Given the description of an element on the screen output the (x, y) to click on. 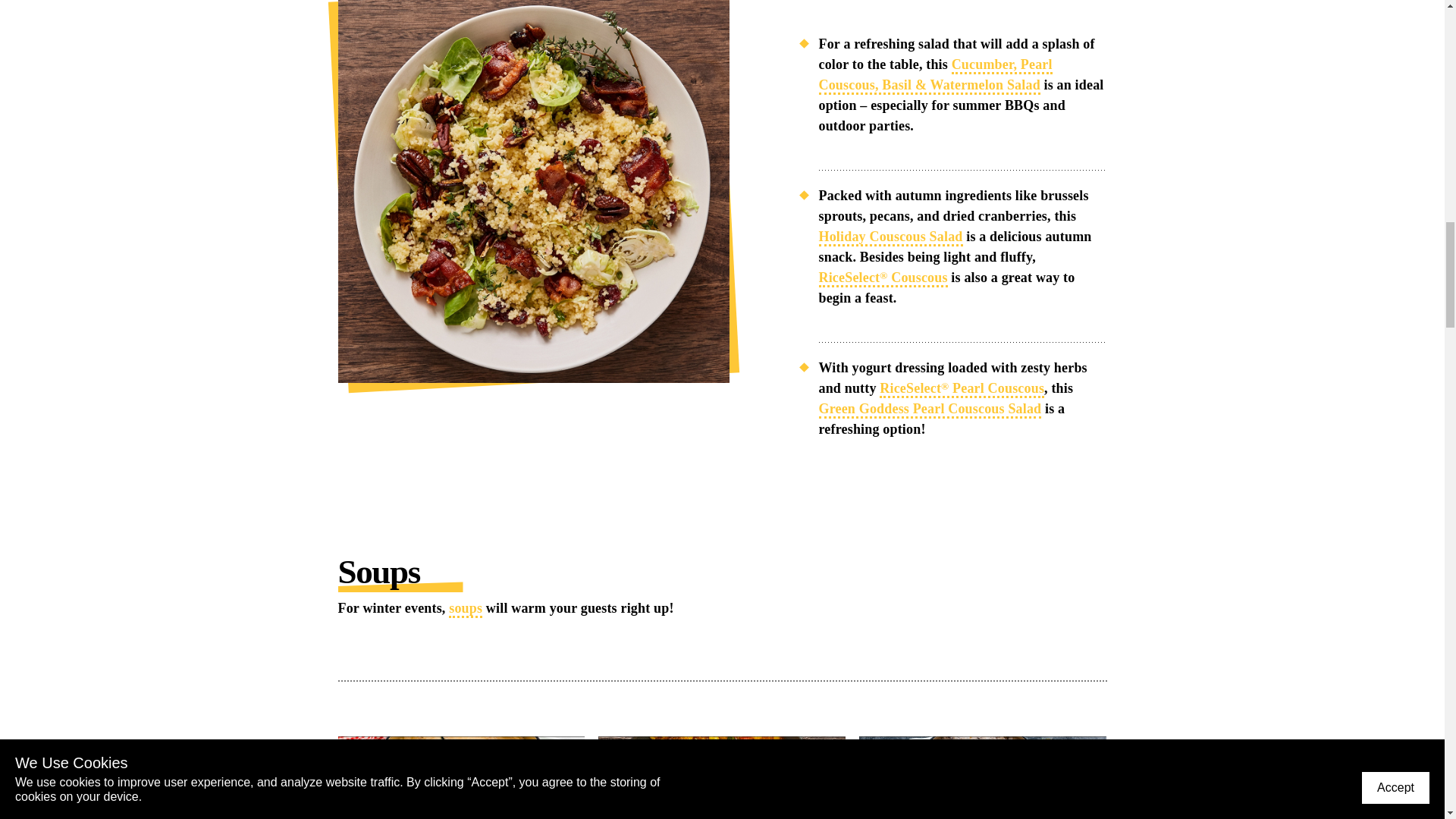
soups (464, 609)
Holiday Couscous Salad (890, 237)
Green Goddess Pearl Couscous Salad (930, 409)
